Given the description of an element on the screen output the (x, y) to click on. 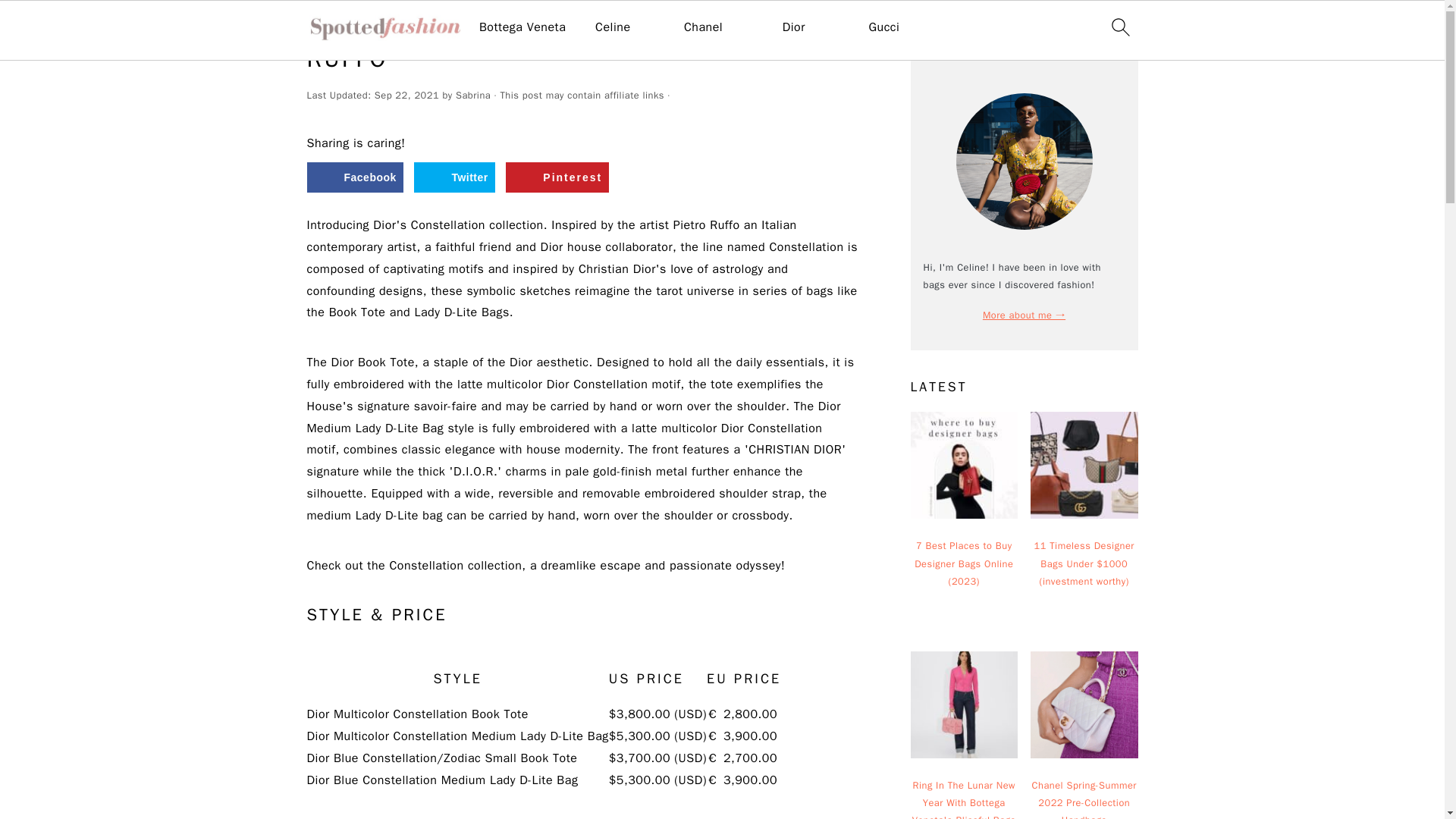
Celine (612, 27)
Share on Twitter (454, 177)
Dior (794, 27)
Twitter (454, 177)
Pinterest (556, 177)
Facebook (354, 177)
Share on Facebook (354, 177)
Chanel (703, 27)
Bottega Veneta (522, 27)
Save to Pinterest (556, 177)
Gucci (883, 27)
search icon (1119, 26)
